Given the description of an element on the screen output the (x, y) to click on. 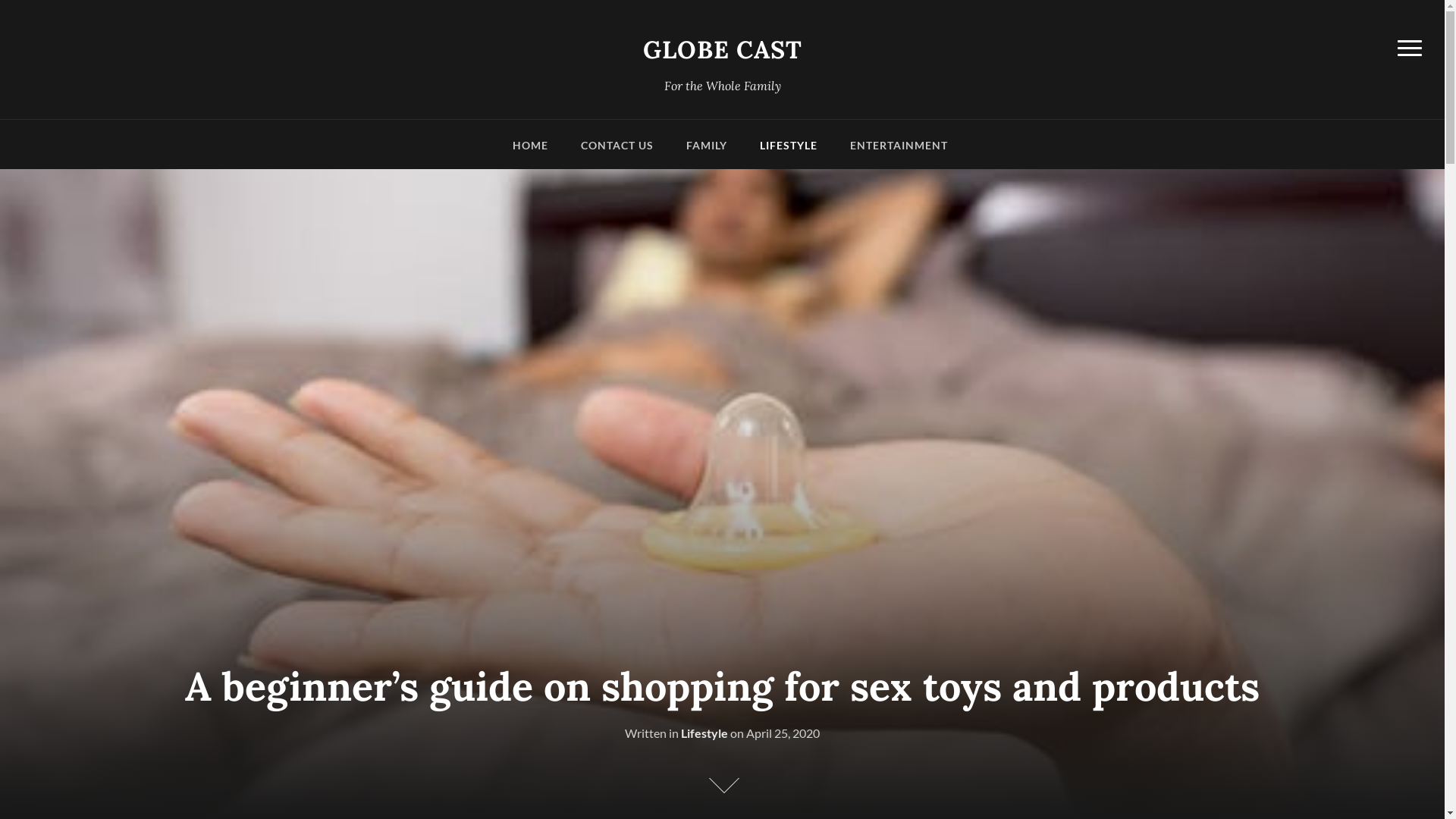
LIFESTYLE Element type: text (788, 151)
CONTACT US Element type: text (616, 151)
HOME Element type: text (530, 151)
ENTERTAINMENT Element type: text (898, 151)
Lifestyle Element type: text (704, 732)
FAMILY Element type: text (705, 151)
GLOBE CAST Element type: text (722, 49)
